Given the description of an element on the screen output the (x, y) to click on. 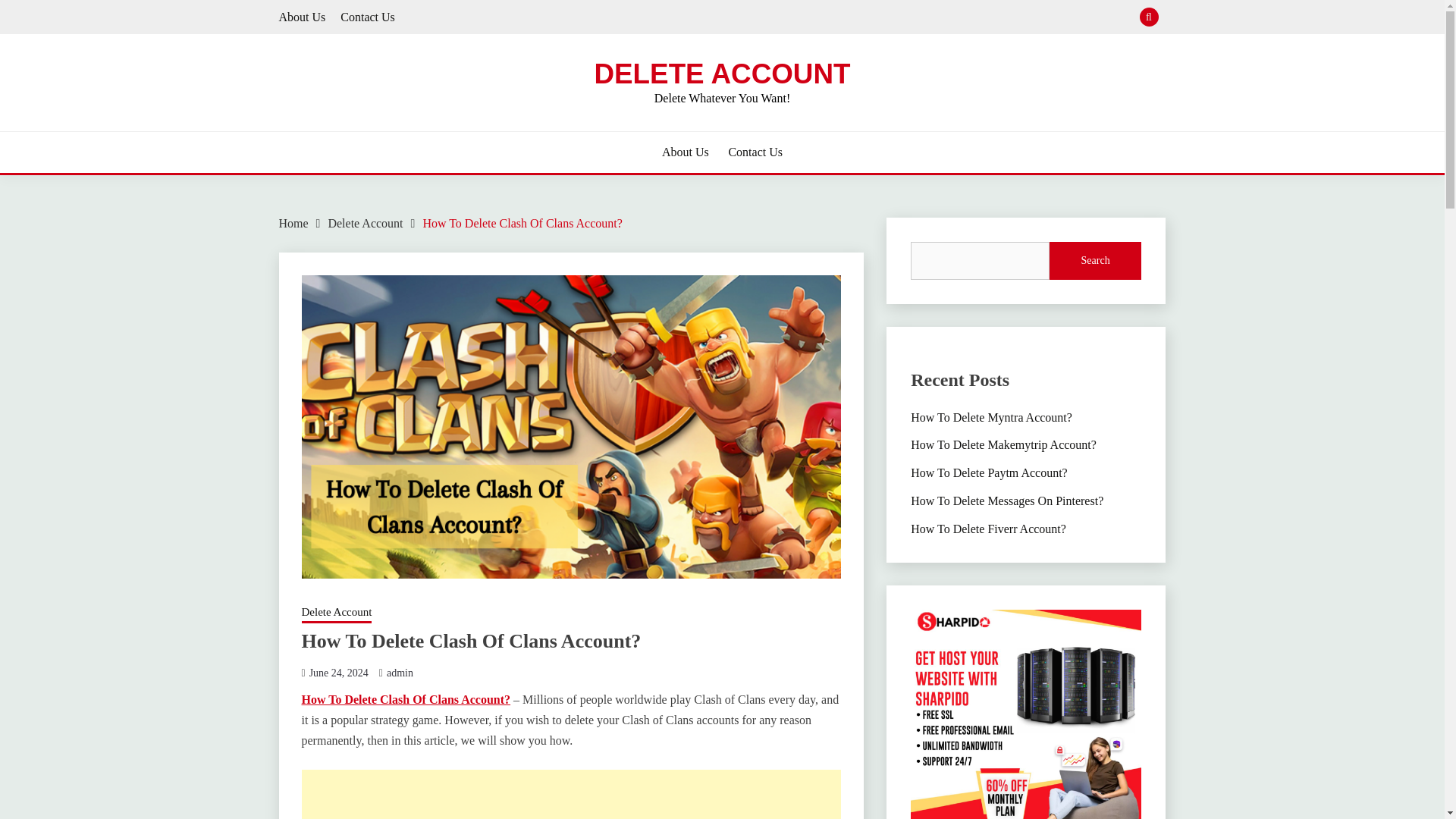
How To Delete Messages On Pinterest? (1007, 500)
Contact Us (367, 16)
admin (400, 672)
June 24, 2024 (338, 672)
Search (832, 18)
How To Delete Myntra Account? (991, 417)
About Us (302, 16)
How To Delete Paytm Account? (989, 472)
Home (293, 223)
Delete Account (336, 613)
